Given the description of an element on the screen output the (x, y) to click on. 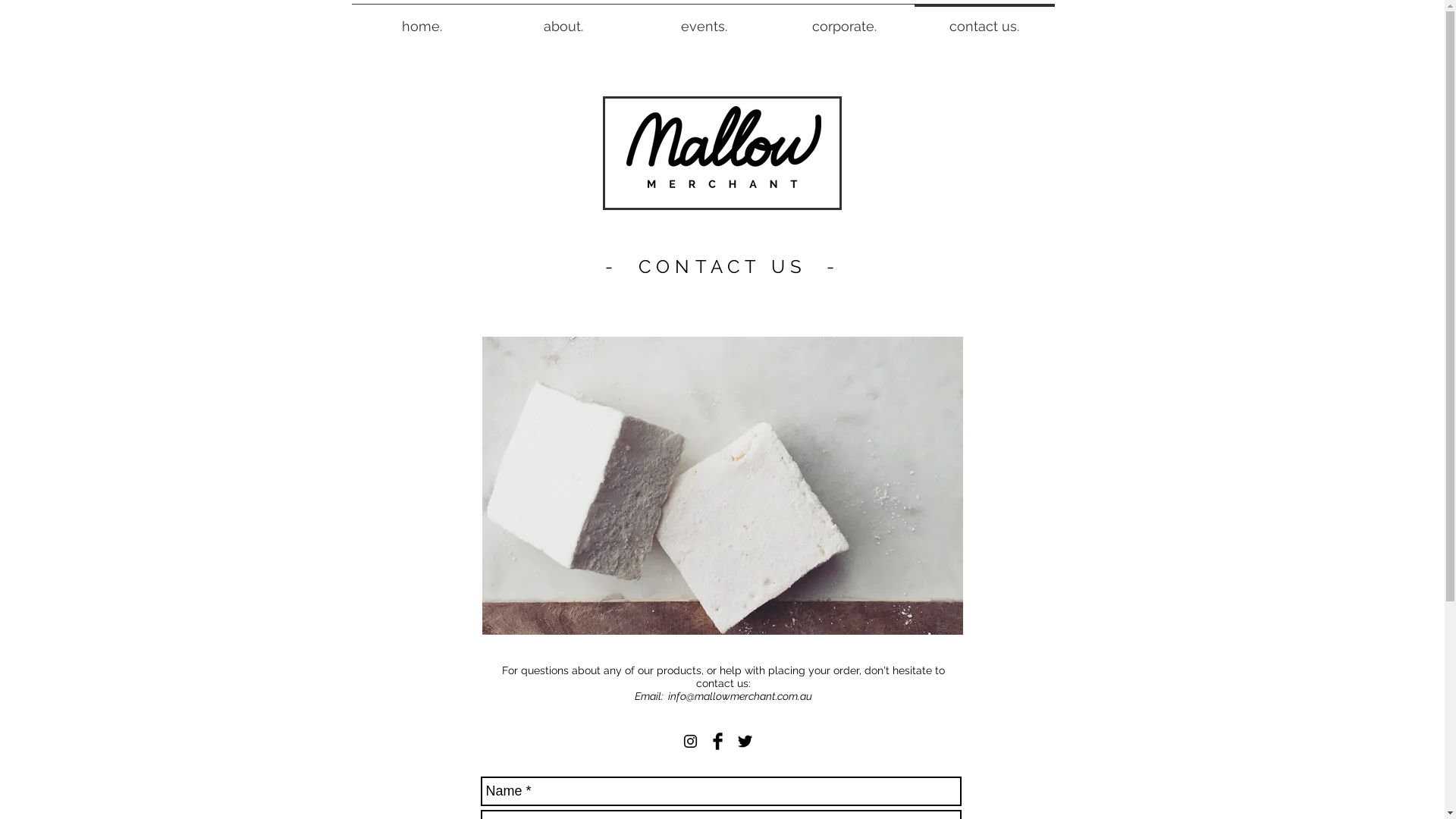
info@mallowmerchant.com.au Element type: text (739, 696)
contact us. Element type: text (984, 19)
events. Element type: text (703, 19)
home. Element type: text (421, 19)
about. Element type: text (562, 19)
corporate. Element type: text (843, 19)
